Given the description of an element on the screen output the (x, y) to click on. 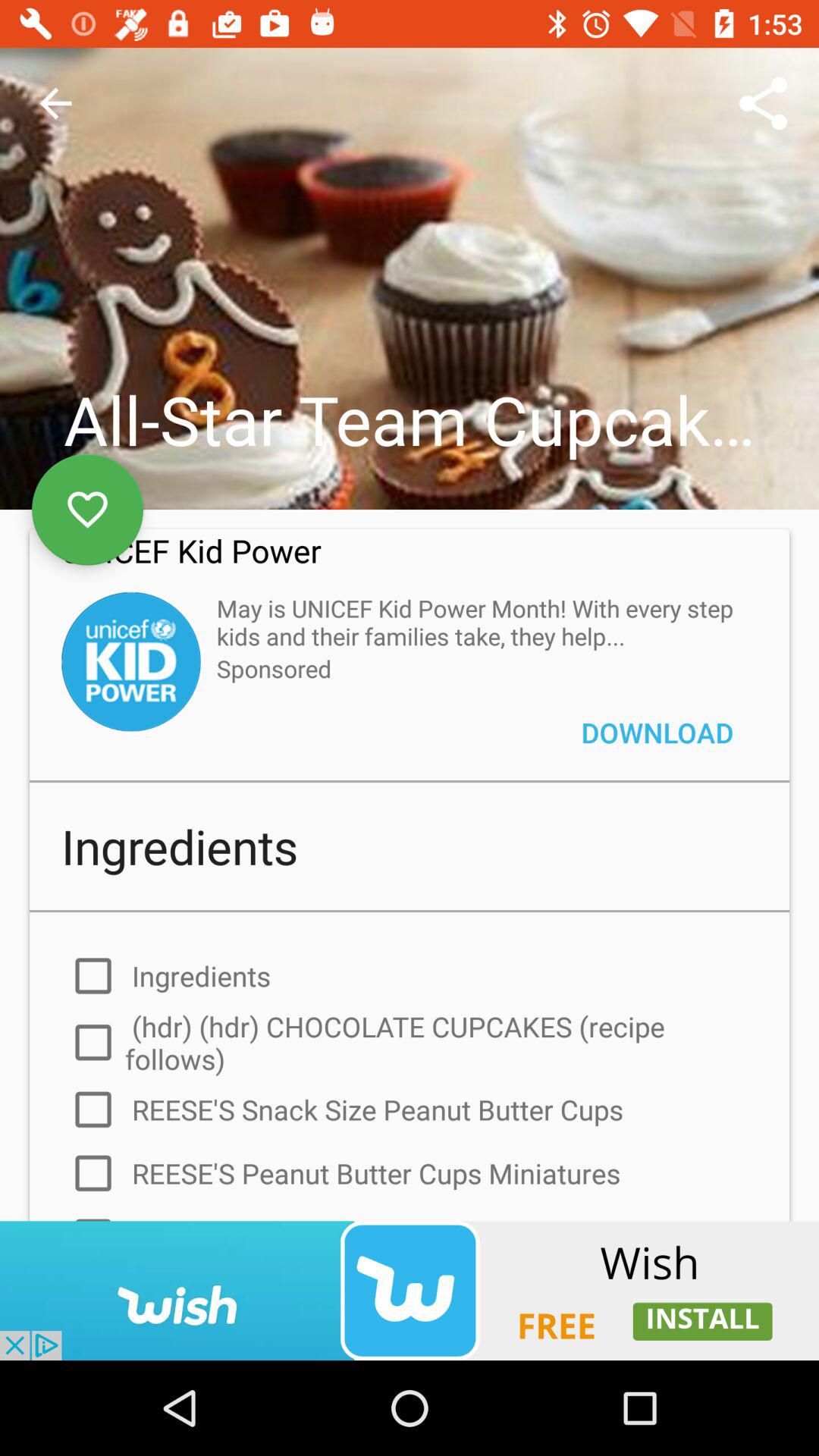
favorite this item (87, 509)
